Given the description of an element on the screen output the (x, y) to click on. 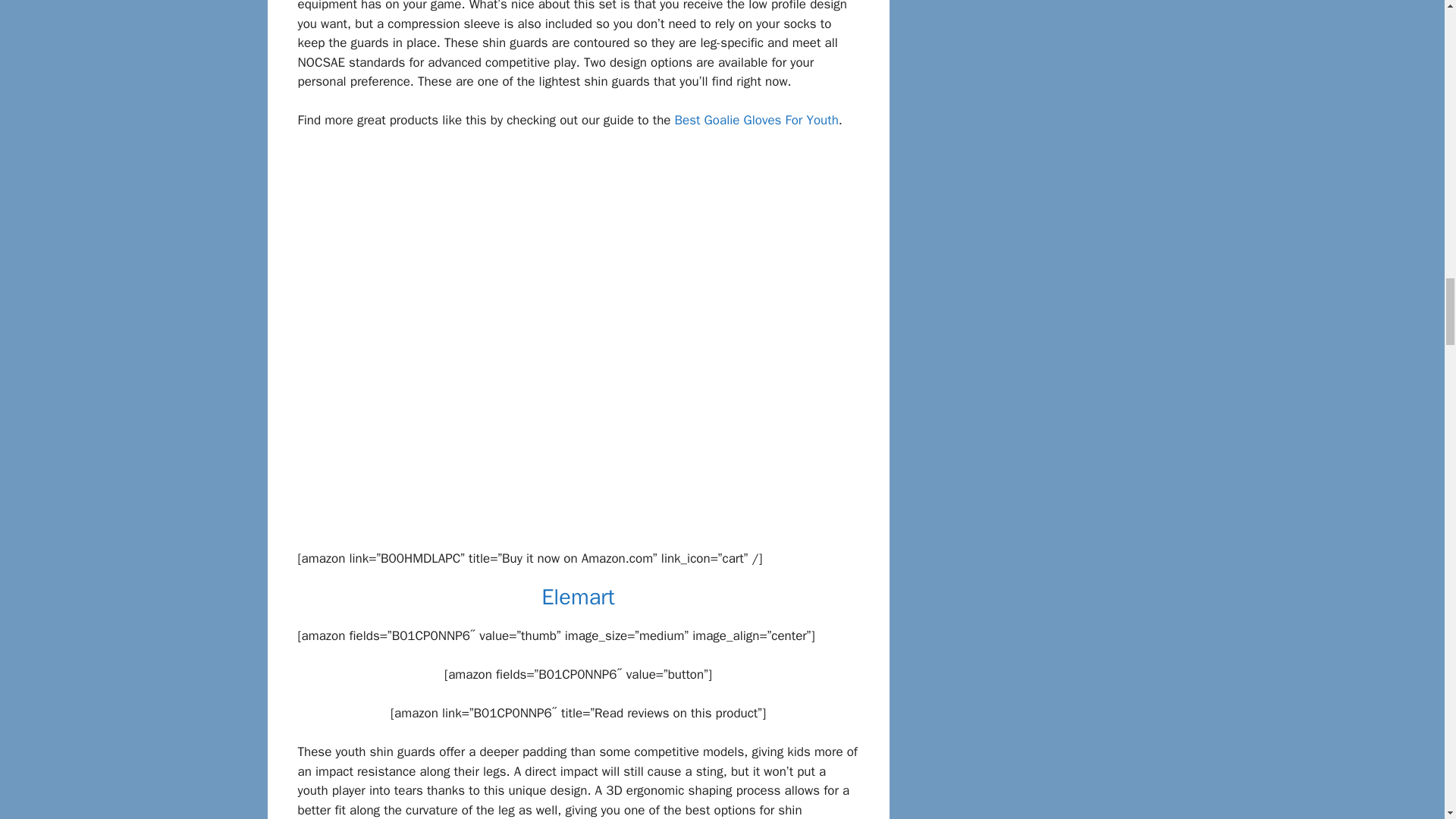
Best Goalie Gloves For Youth (756, 119)
Elemart (577, 596)
